Given the description of an element on the screen output the (x, y) to click on. 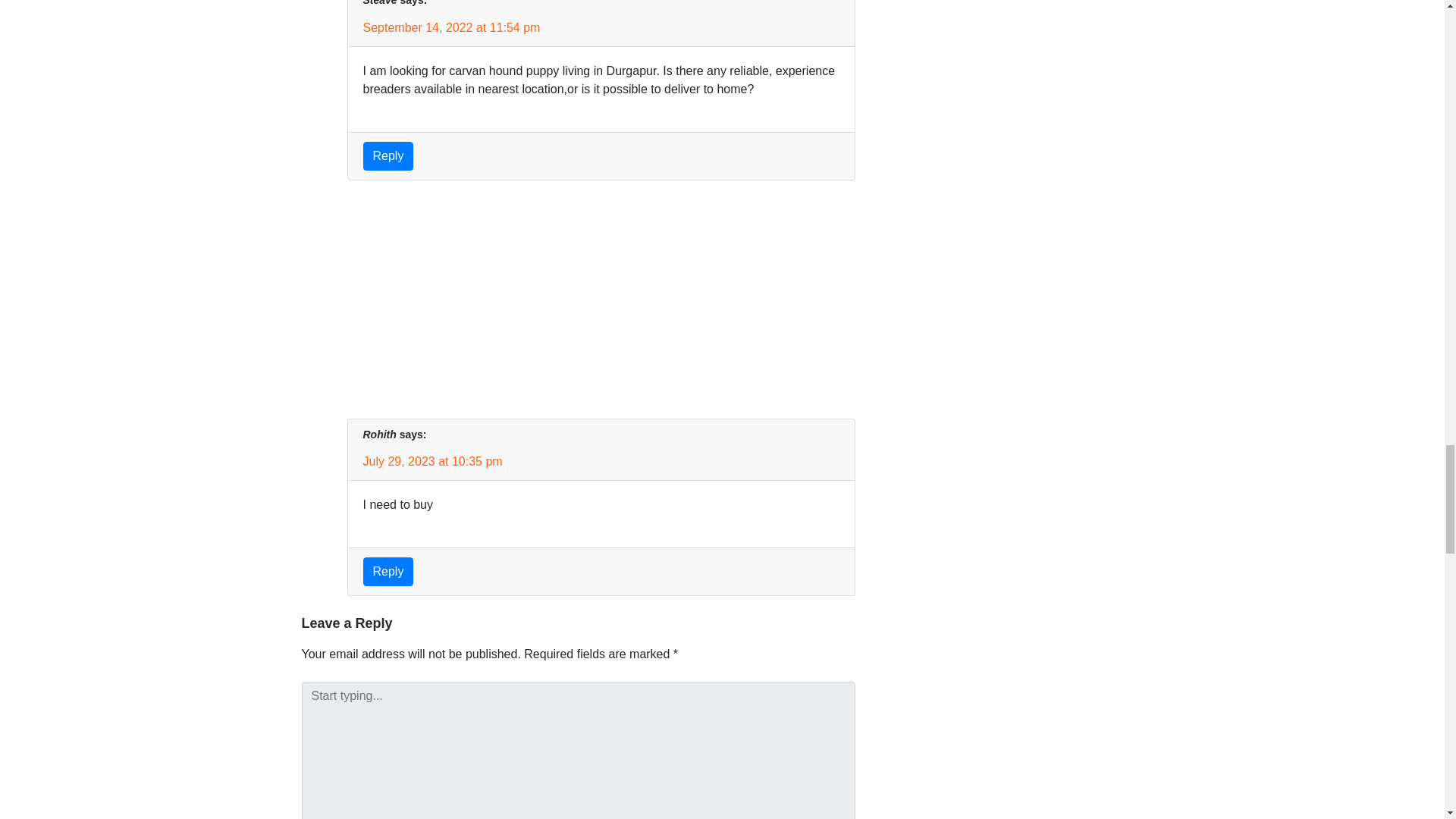
September 14, 2022 at 11:54 pm (451, 27)
